Given the description of an element on the screen output the (x, y) to click on. 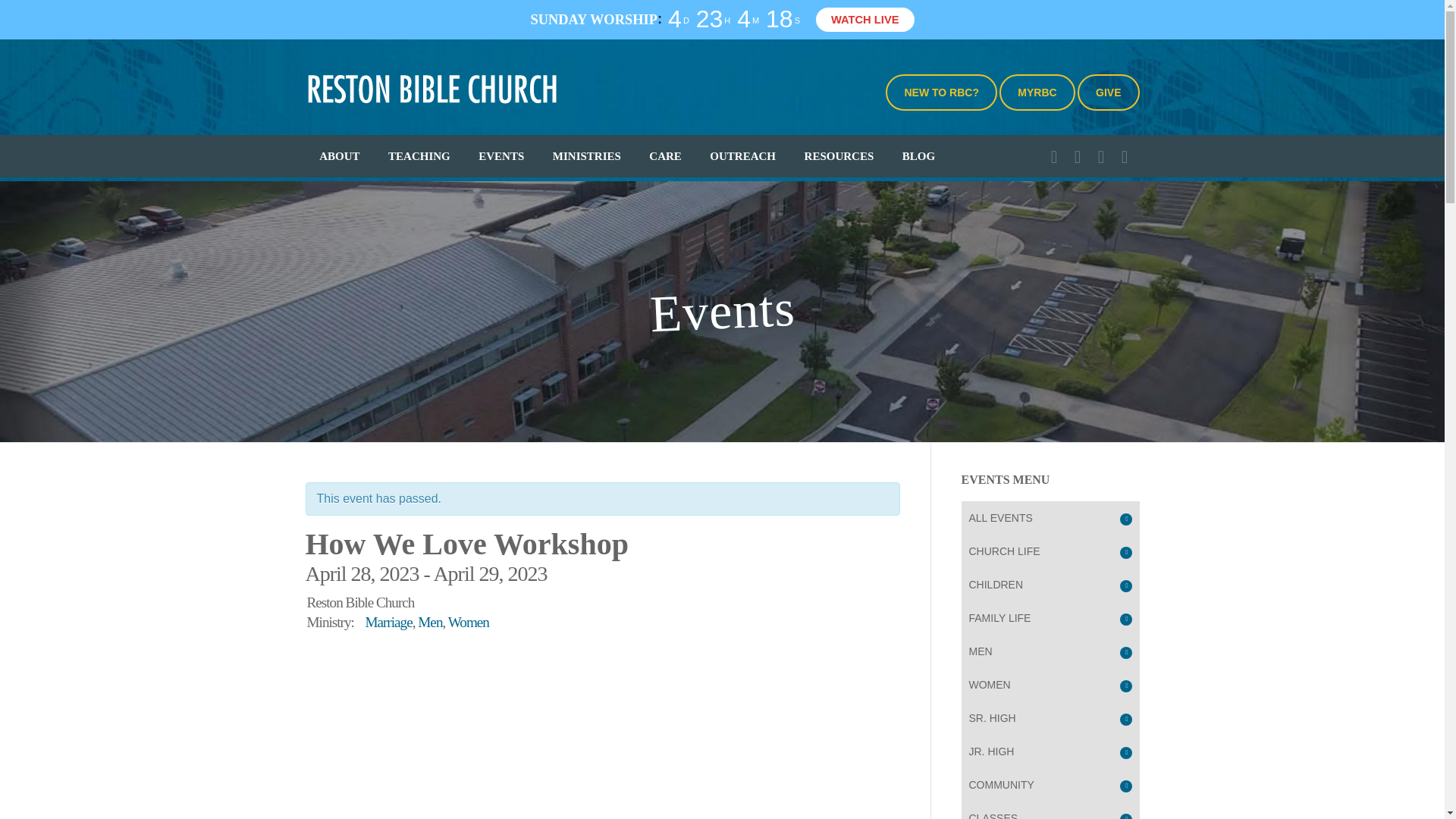
GIVE (1107, 92)
NEW TO RBC? (941, 92)
Reston Bible Church (431, 87)
TEACHING (419, 156)
MINISTRIES (586, 156)
MYRBC (1036, 92)
ABOUT (339, 156)
EVENTS (501, 156)
WATCH LIVE (864, 19)
